Given the description of an element on the screen output the (x, y) to click on. 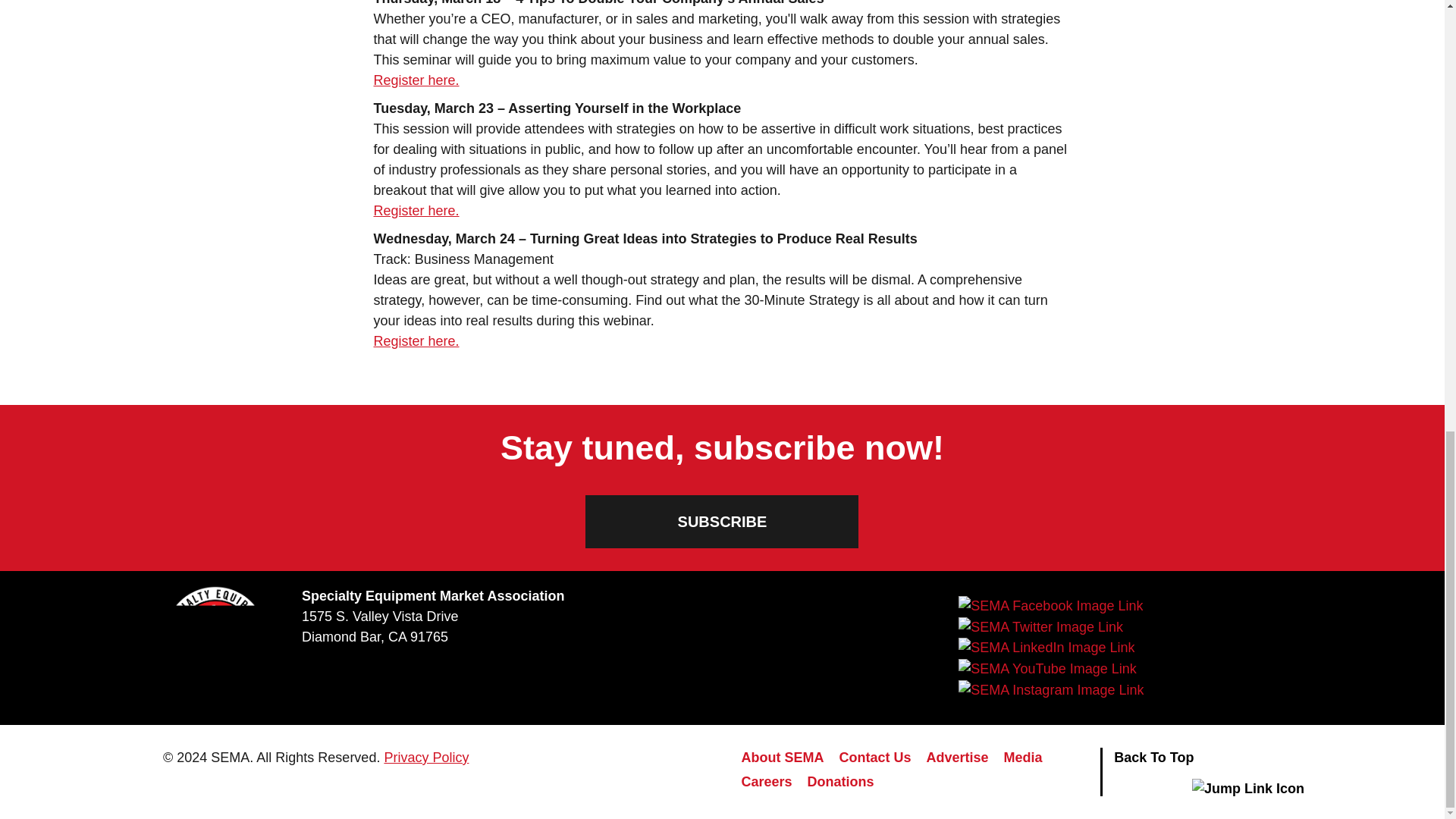
SEMA Twitter Link (1040, 627)
SEMA Instagram Link (1050, 690)
Register here. (415, 340)
SEMA Facebook Link (1050, 605)
SUBSCRIBE (722, 521)
Register here. (415, 210)
Register here. (415, 79)
Privacy Policy (426, 757)
SEMA LinkedIn Link (1046, 648)
SEMA YouTube Link (1046, 668)
